Given the description of an element on the screen output the (x, y) to click on. 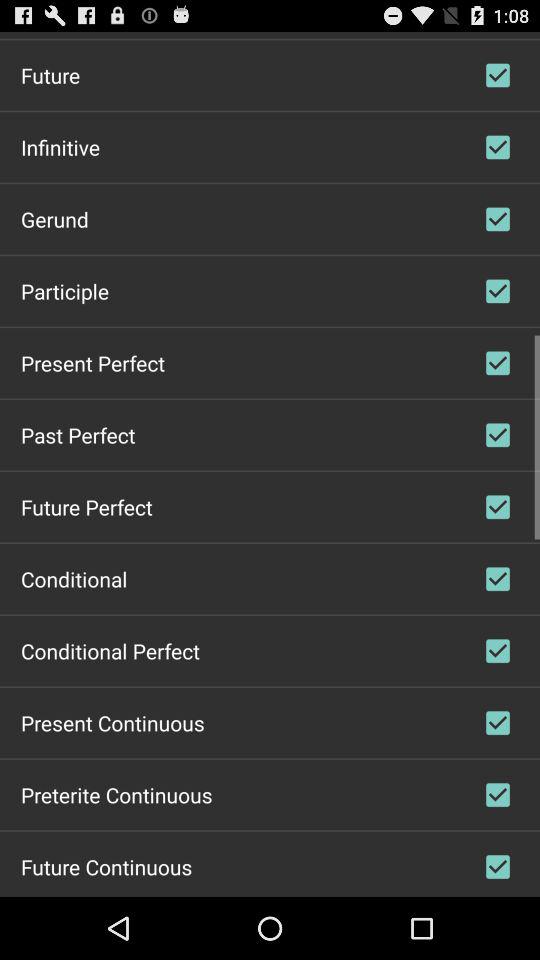
choose the app above the future continuous app (116, 794)
